Given the description of an element on the screen output the (x, y) to click on. 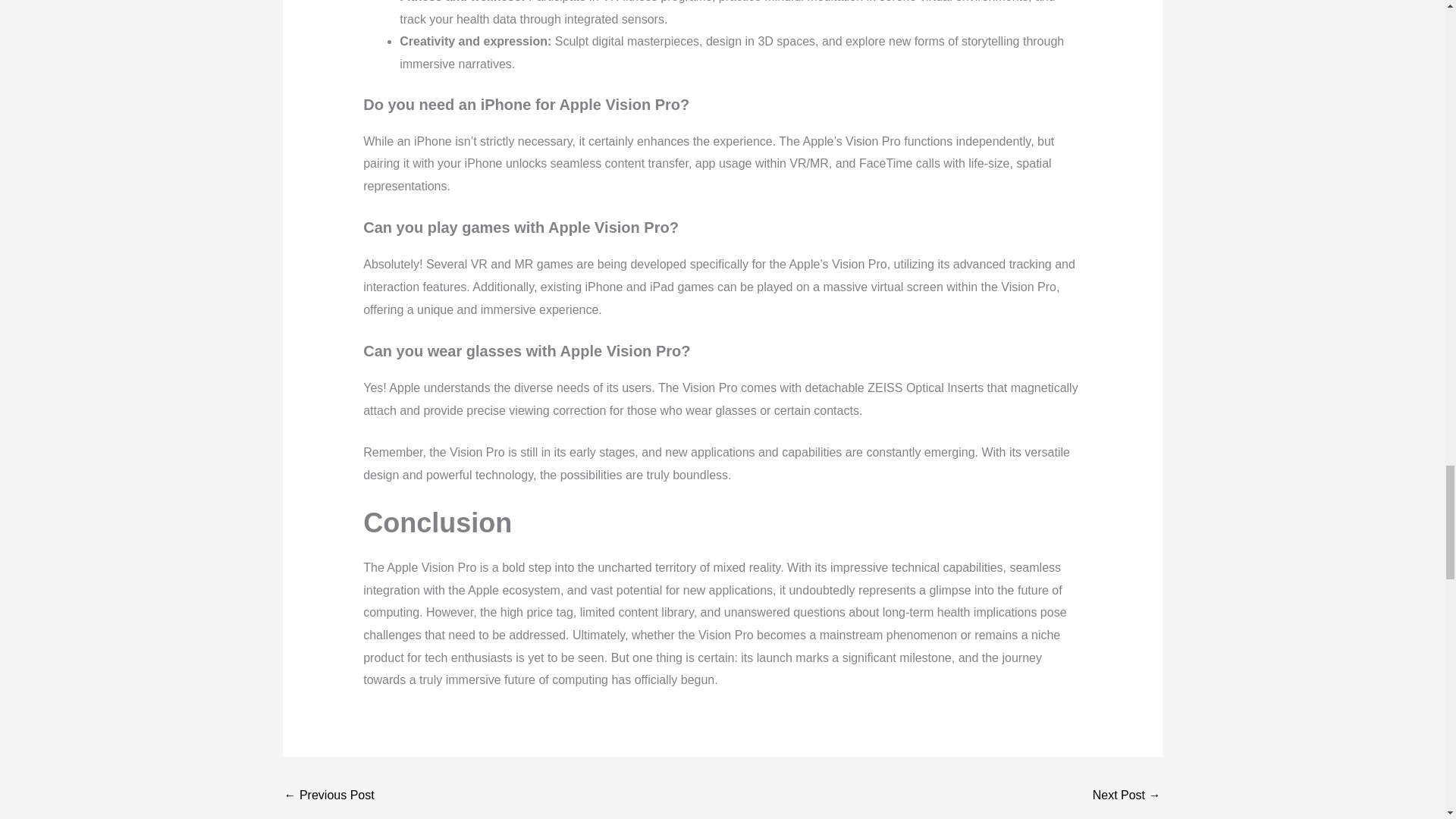
A Deep Dive into DIY Home Automation Ideas (328, 796)
MyOLSD Portal is Your One-Stop Shop for Academic Success (1126, 796)
